Given the description of an element on the screen output the (x, y) to click on. 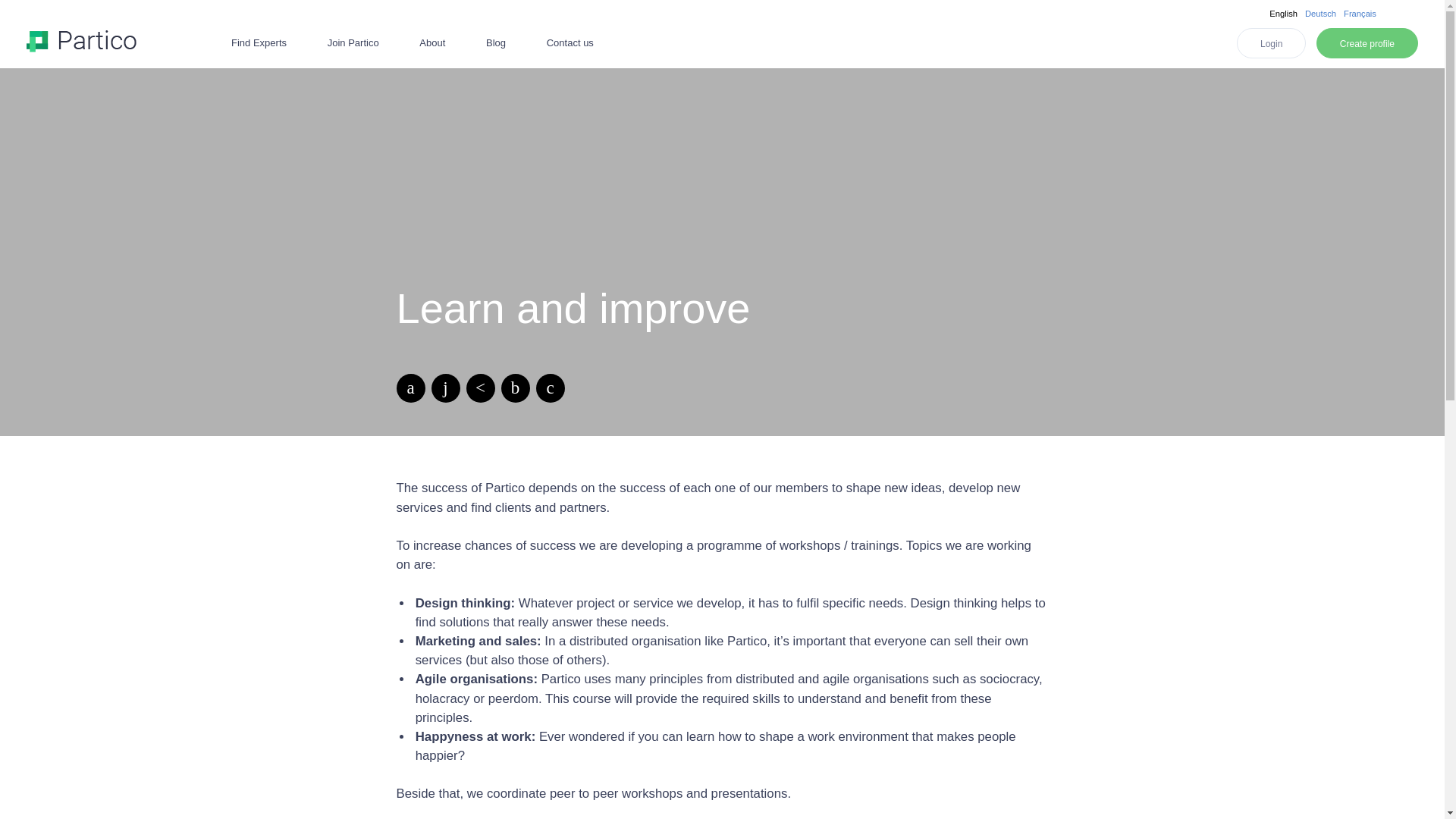
Create profile (1367, 42)
Join Partico (352, 42)
Find a Partico expert for your projects (258, 42)
English (1283, 13)
How to become a member (352, 42)
PARTICO (81, 41)
Tweet (410, 387)
Deutsch (1320, 13)
General information about Partico (432, 42)
Home (81, 41)
Find Experts (258, 42)
Share on Facebook (514, 387)
Blog (495, 42)
Login (1271, 42)
